Given the description of an element on the screen output the (x, y) to click on. 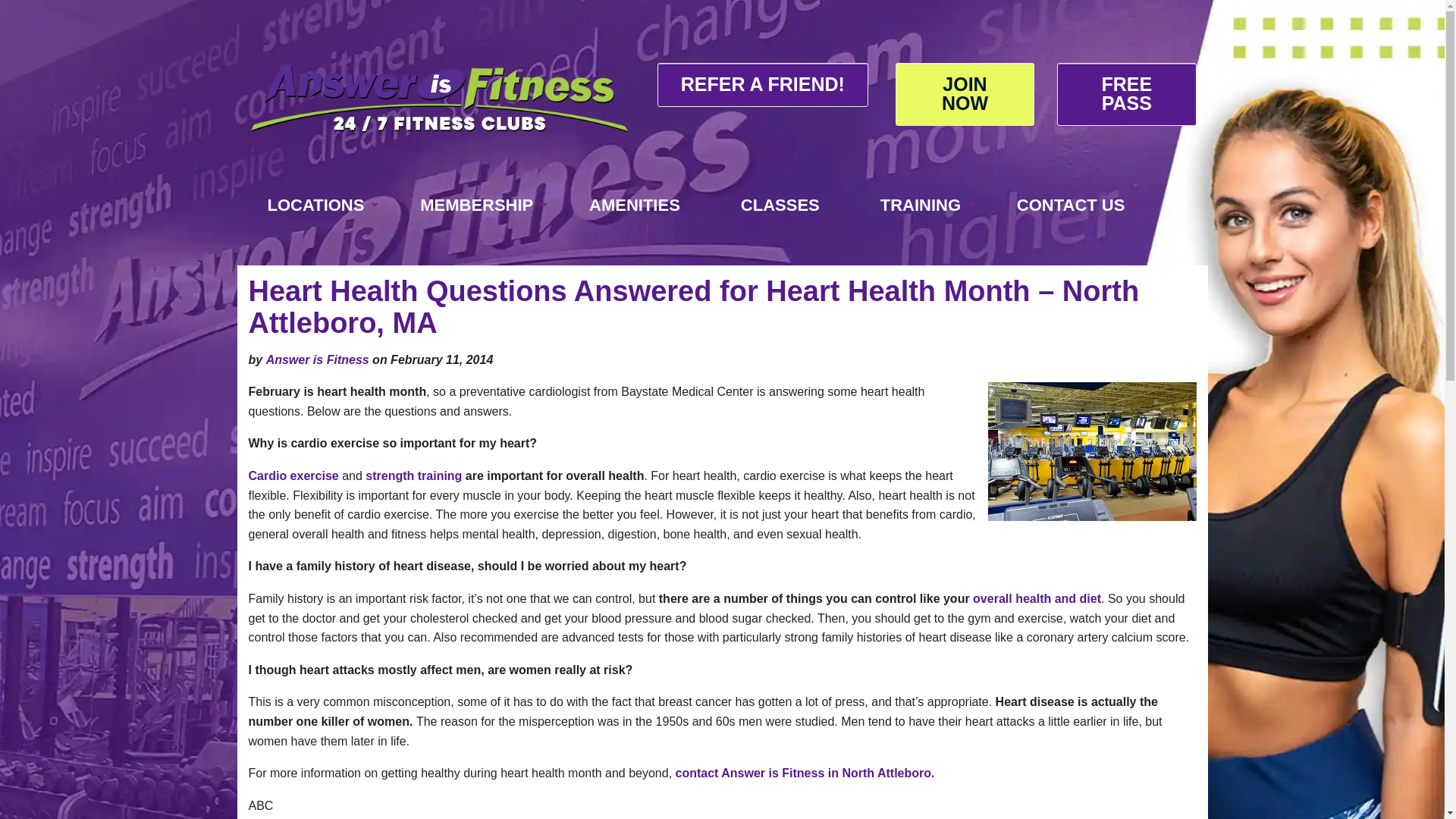
Answer is Fitness (439, 98)
strength training (413, 475)
JOIN NOW (964, 94)
MEMBERSHIP (474, 204)
Cardio exercise (293, 475)
overall health and diet (1036, 598)
TRAINING (918, 204)
Heart Health Questions Answered for Heart Health Month (1091, 451)
CLASSES (780, 204)
REFER A FRIEND! (762, 85)
CONTACT US (1068, 204)
FREE PASS (1126, 94)
AMENITIES (634, 204)
Answer is Fitness (317, 359)
LOCATIONS (312, 204)
